Given the description of an element on the screen output the (x, y) to click on. 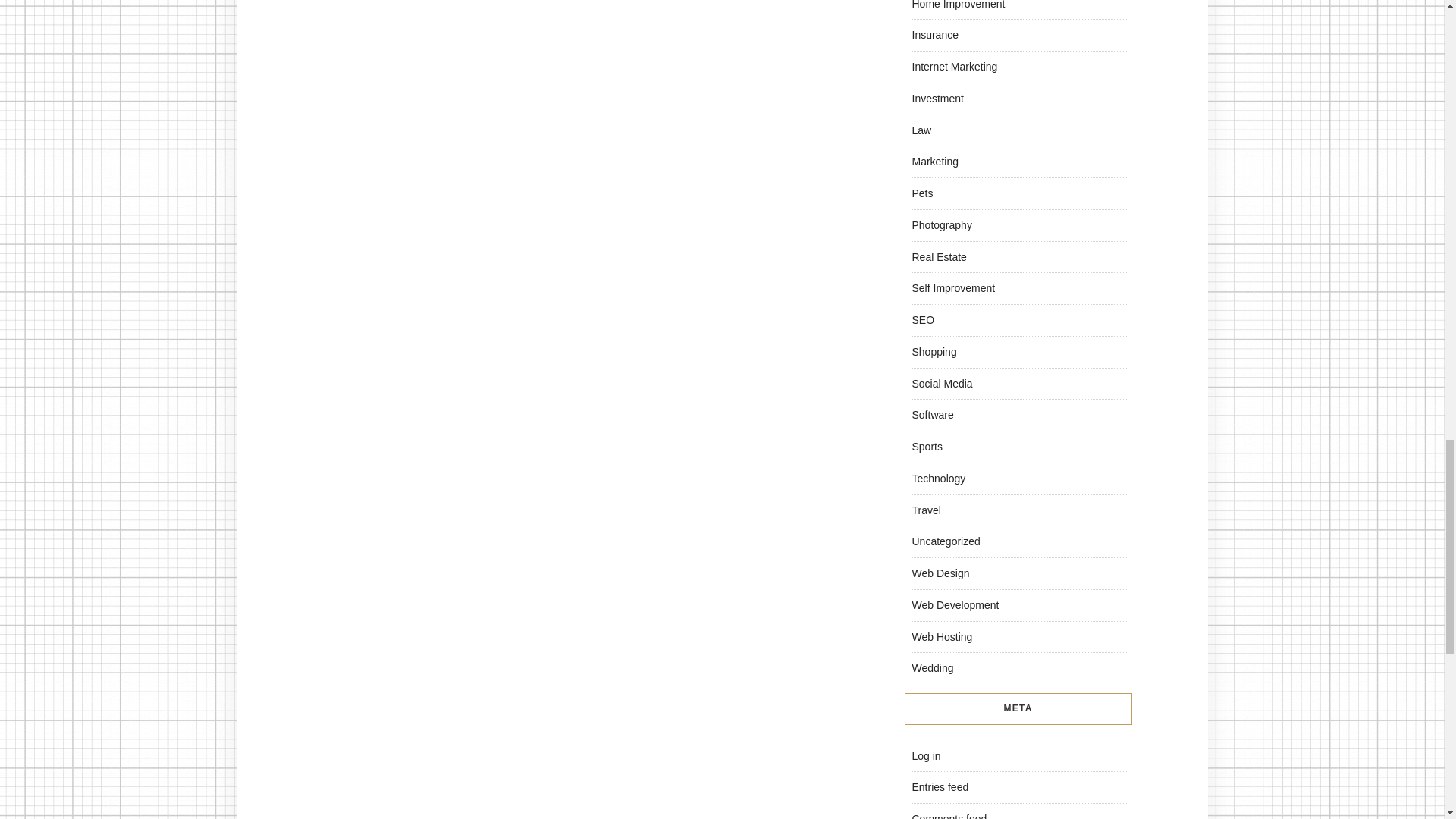
Home Improvement (957, 4)
